Given the description of an element on the screen output the (x, y) to click on. 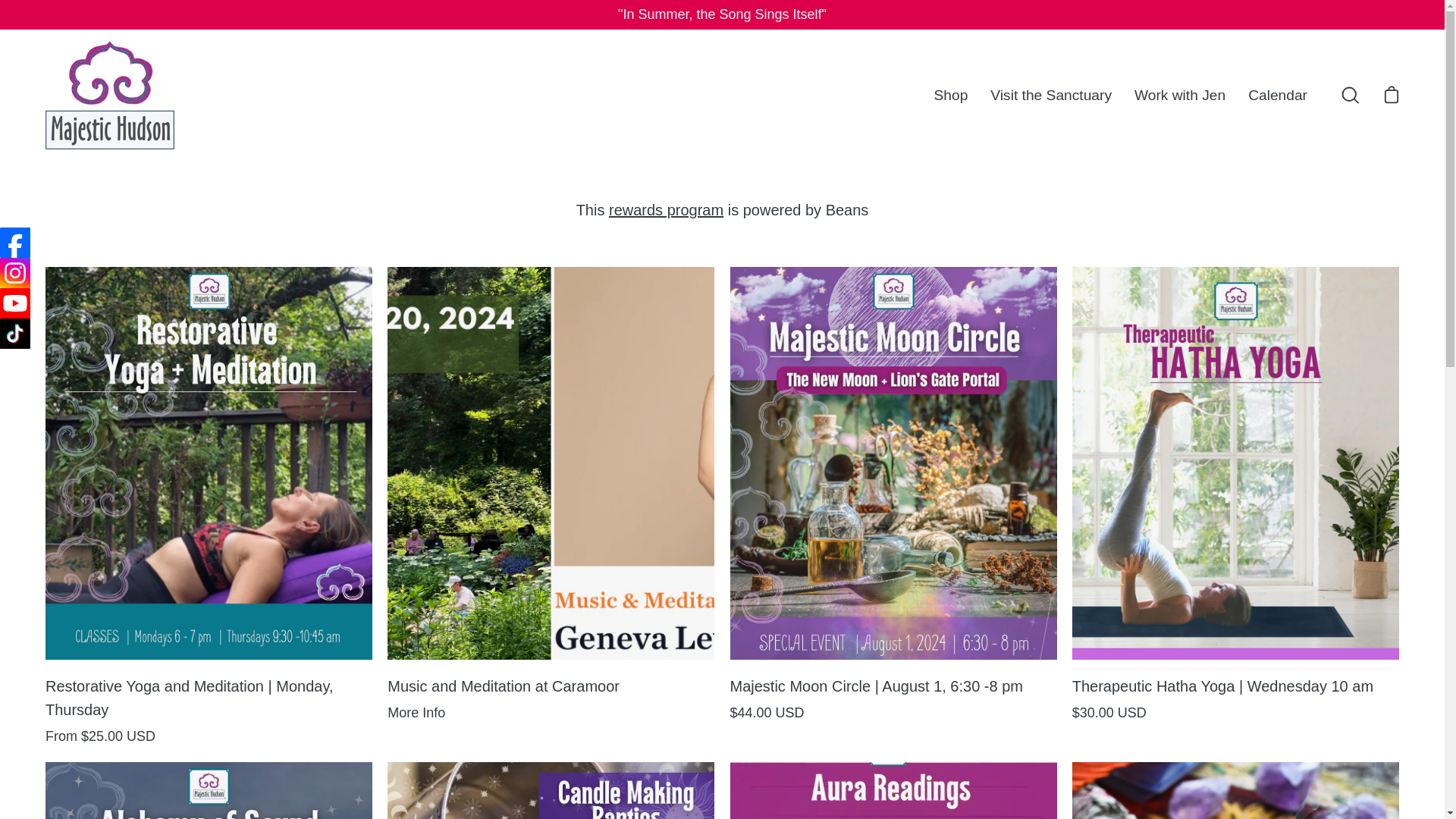
Instagram (15, 272)
Visit the Sanctuary (1050, 94)
Shop (951, 94)
YouTube (15, 303)
Facebook (15, 242)
TikTok (15, 333)
